Given the description of an element on the screen output the (x, y) to click on. 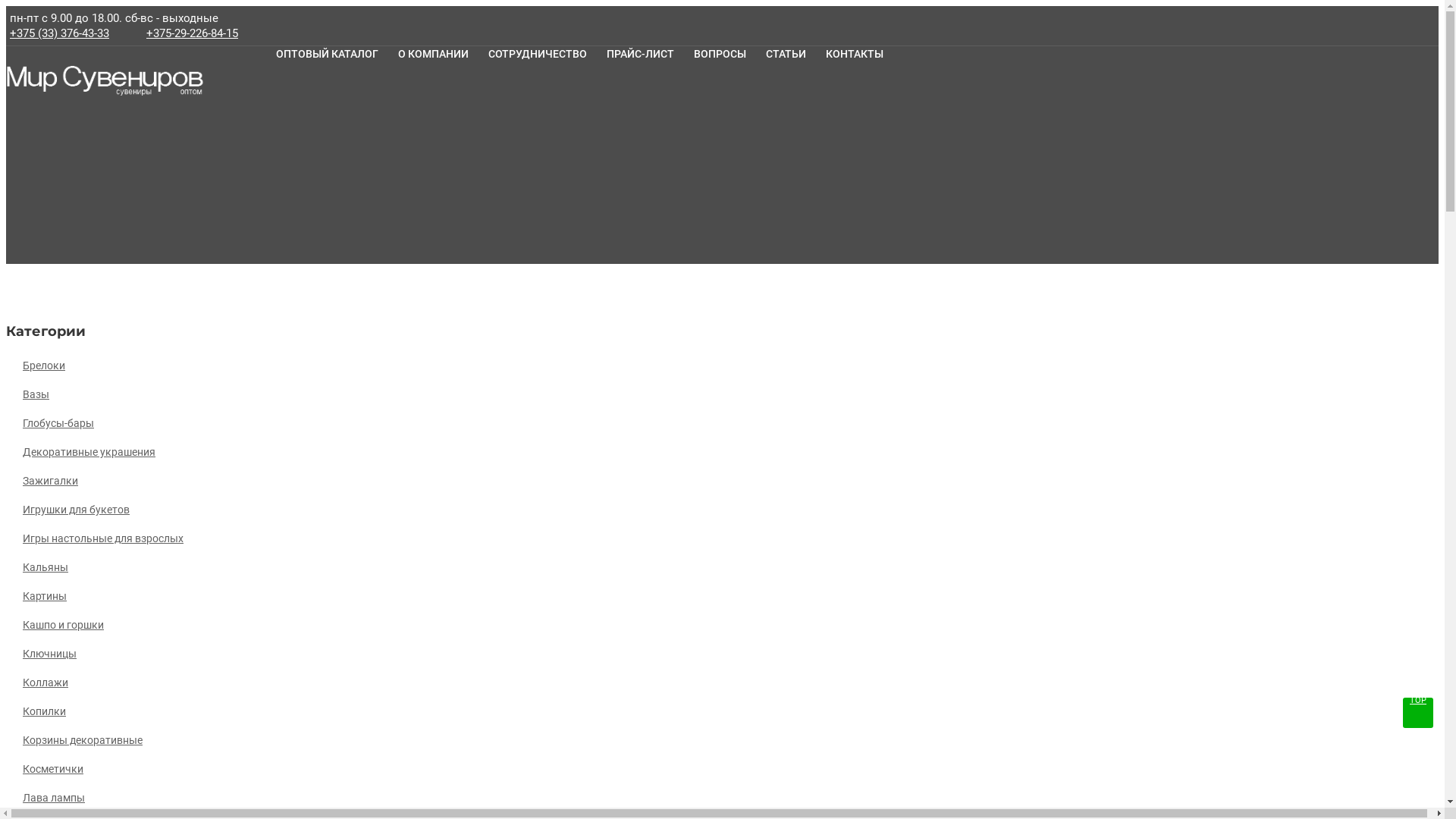
TOP Element type: text (1417, 712)
+375-29-226-84-15 Element type: text (192, 33)
+375 (33) 376-43-33 Element type: text (59, 33)
